Given the description of an element on the screen output the (x, y) to click on. 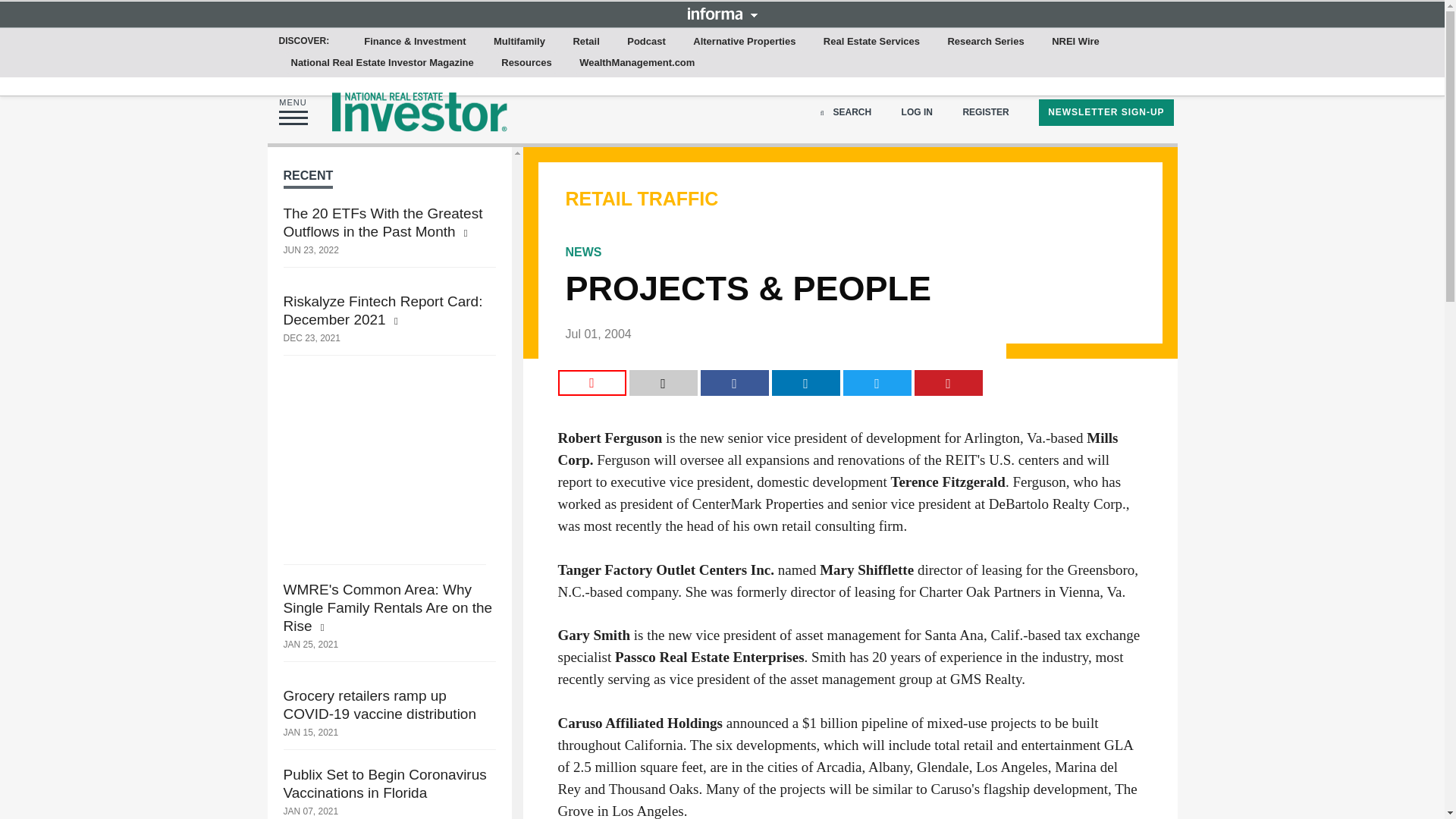
NREI Wire (1075, 41)
Podcast (646, 41)
Multifamily (519, 41)
Resources (526, 62)
Research Series (984, 41)
INFORMA (722, 13)
WealthManagement.com (636, 62)
Real Estate Services (871, 41)
Alternative Properties (744, 41)
Retail (585, 41)
